Given the description of an element on the screen output the (x, y) to click on. 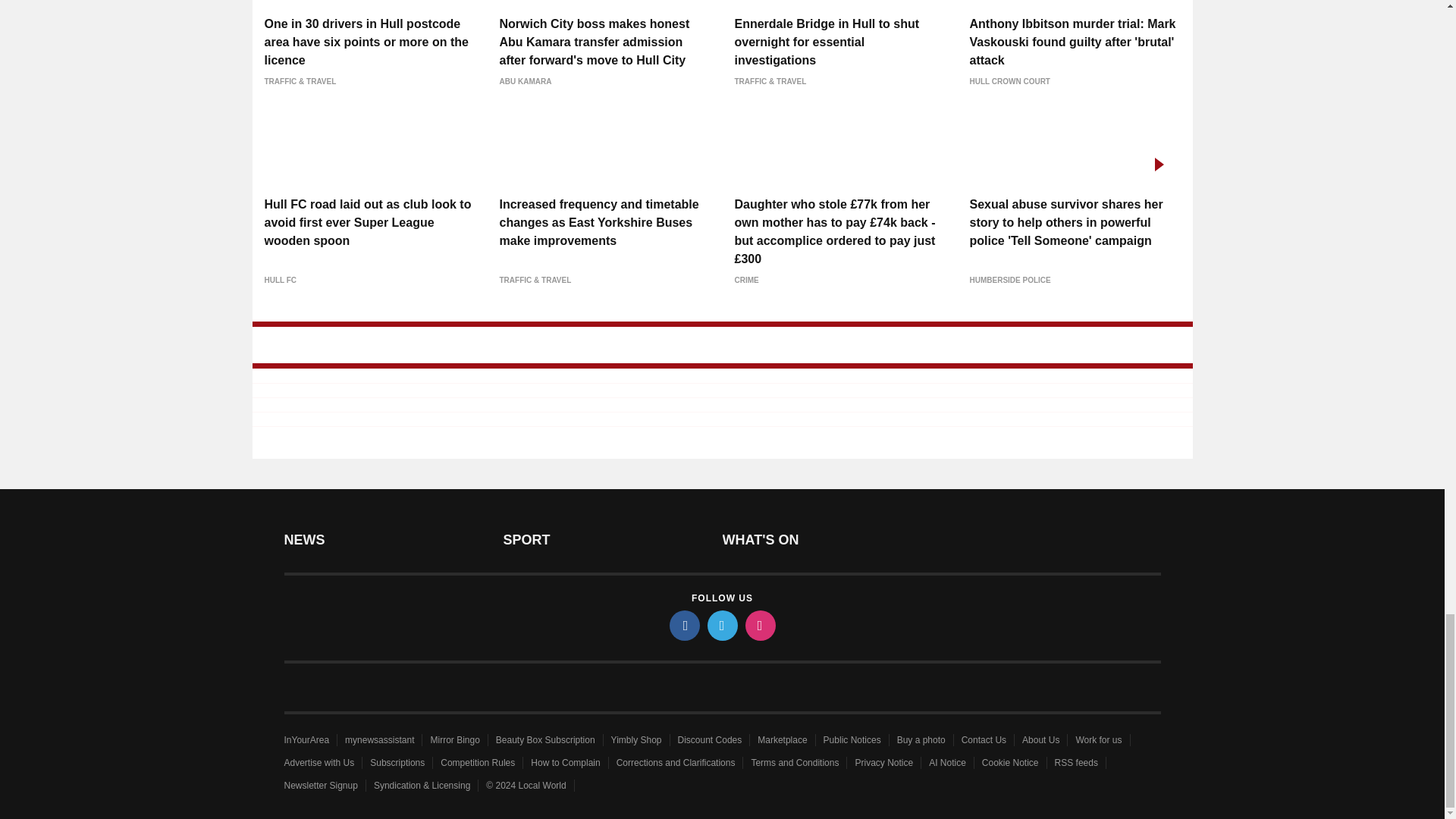
facebook (683, 625)
twitter (721, 625)
instagram (759, 625)
